Given the description of an element on the screen output the (x, y) to click on. 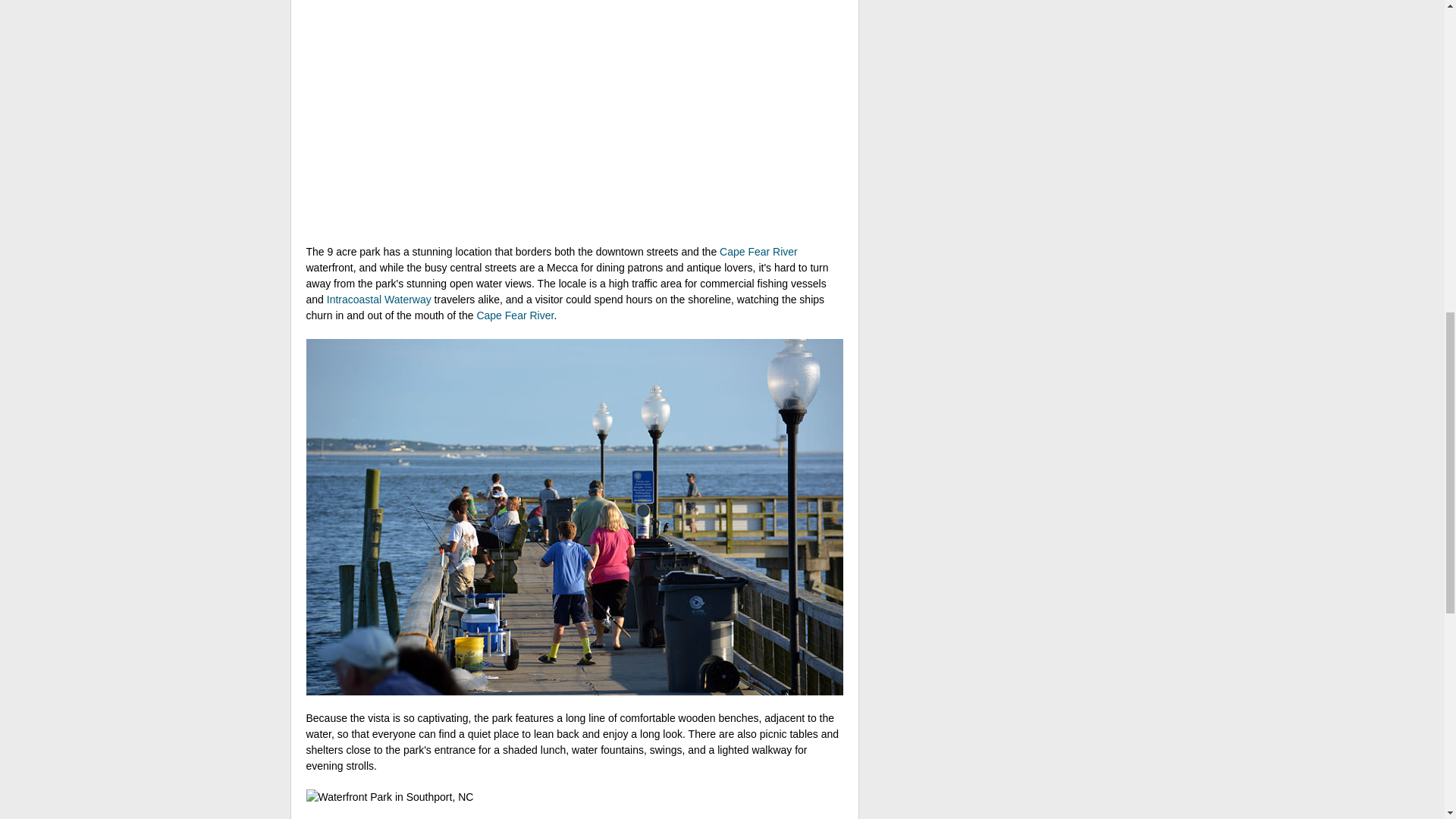
Cape Fear River (758, 251)
Intracoastal Waterway (378, 299)
Cape Fear River (514, 315)
